Given the description of an element on the screen output the (x, y) to click on. 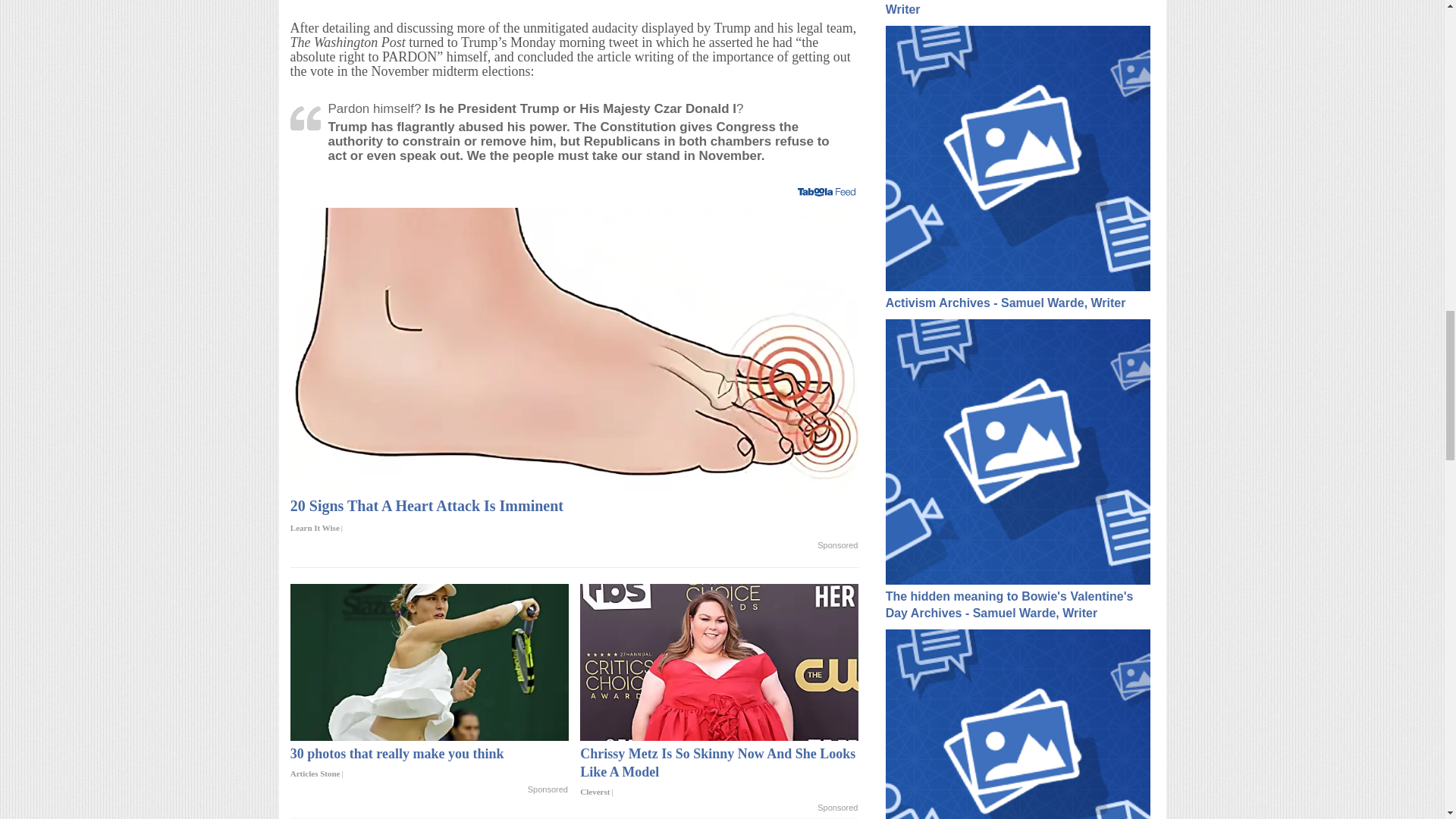
20 Signs That A Heart Attack Is Imminent (574, 517)
30 photos that really make you think (429, 662)
